Given the description of an element on the screen output the (x, y) to click on. 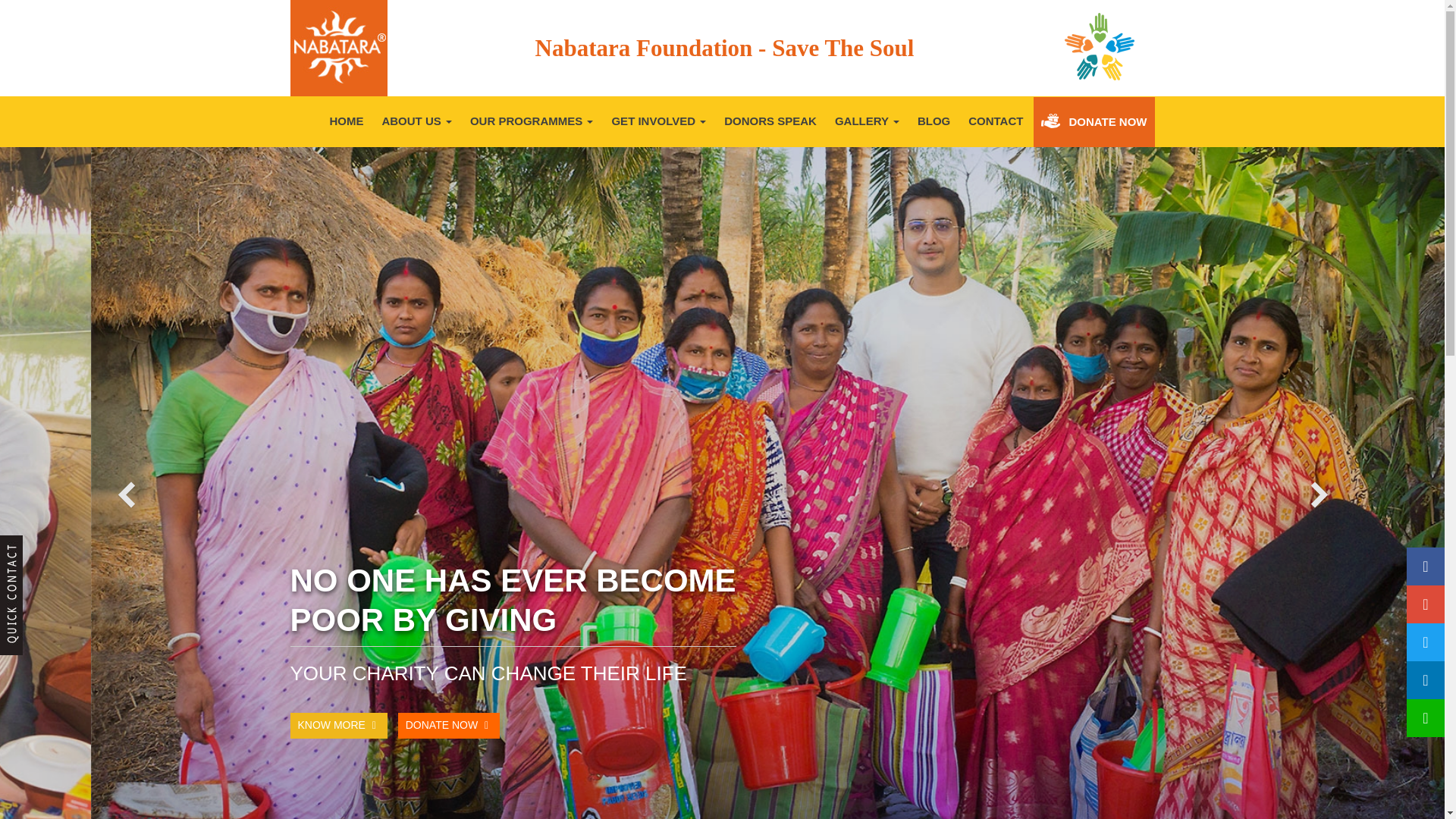
Get Involved (658, 121)
CONTACT (995, 121)
HOME (346, 121)
OUR PROGRAMMES (532, 121)
Our Programmes (532, 121)
ABOUT US (417, 121)
BLOG (934, 121)
Home (346, 121)
DONATE NOW (1093, 122)
GET INVOLVED (658, 121)
GALLERY (867, 121)
About Us (417, 121)
DONORS SPEAK (770, 121)
